Given the description of an element on the screen output the (x, y) to click on. 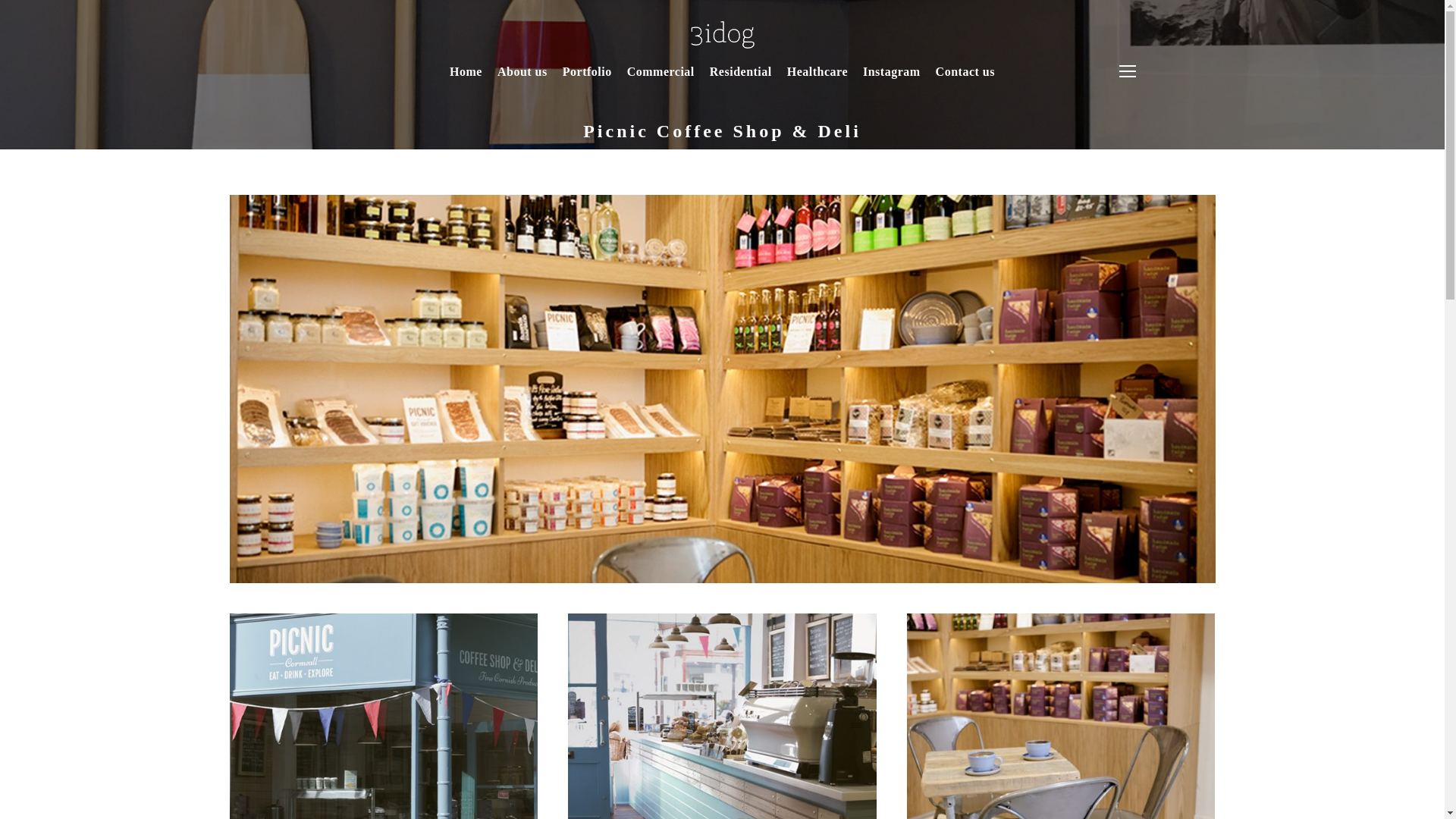
Contact us (965, 79)
About us (522, 79)
Commercial (660, 79)
Home (465, 79)
Residential (740, 79)
Picnic 3 (1061, 716)
Main Image (382, 716)
Portfolio (586, 79)
Picnic 2 (721, 716)
Instagram (891, 79)
Healthcare (817, 79)
